Given the description of an element on the screen output the (x, y) to click on. 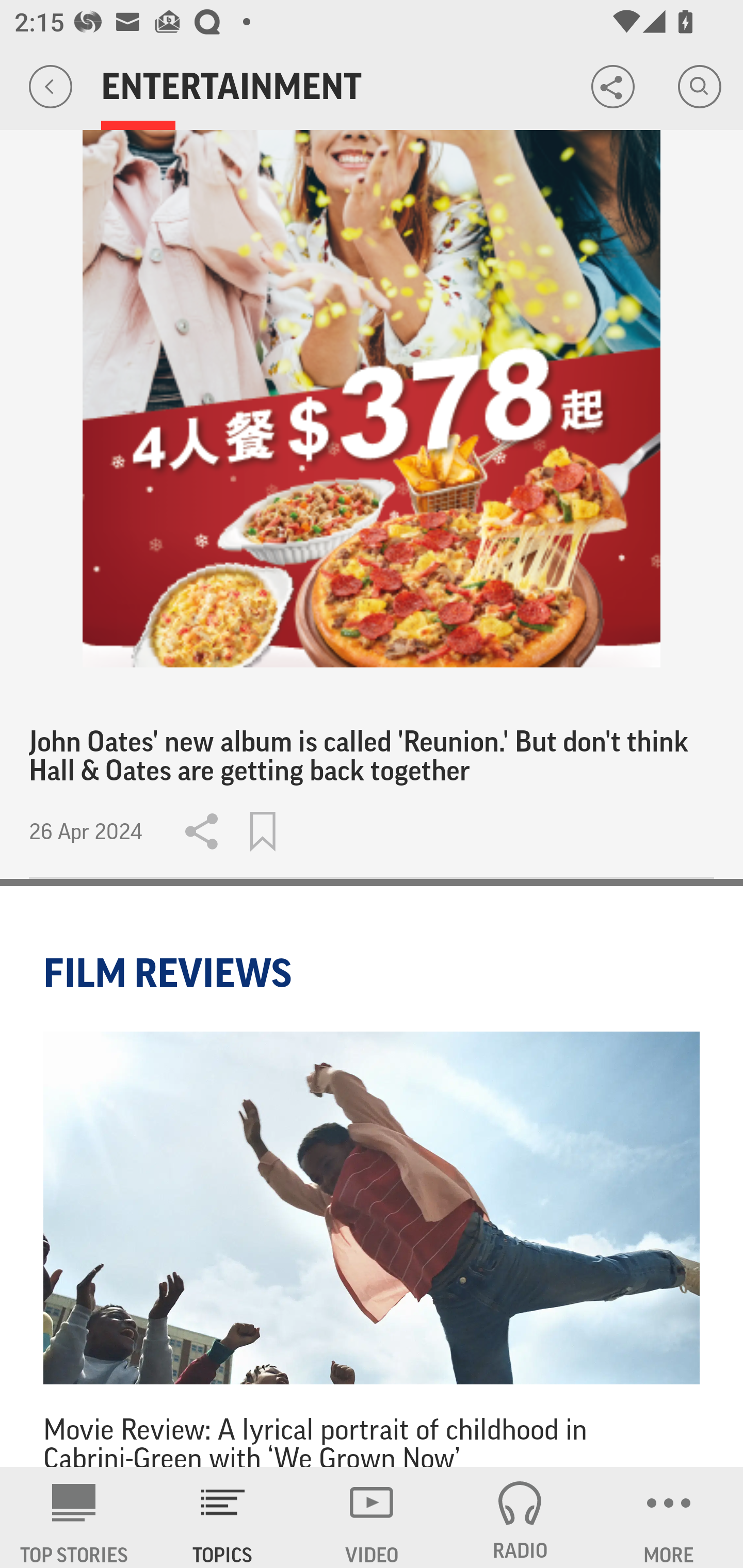
Advertisement (371, 398)
FILM REVIEWS (170, 972)
AP News TOP STORIES (74, 1517)
TOPICS (222, 1517)
VIDEO (371, 1517)
RADIO (519, 1517)
MORE (668, 1517)
